Given the description of an element on the screen output the (x, y) to click on. 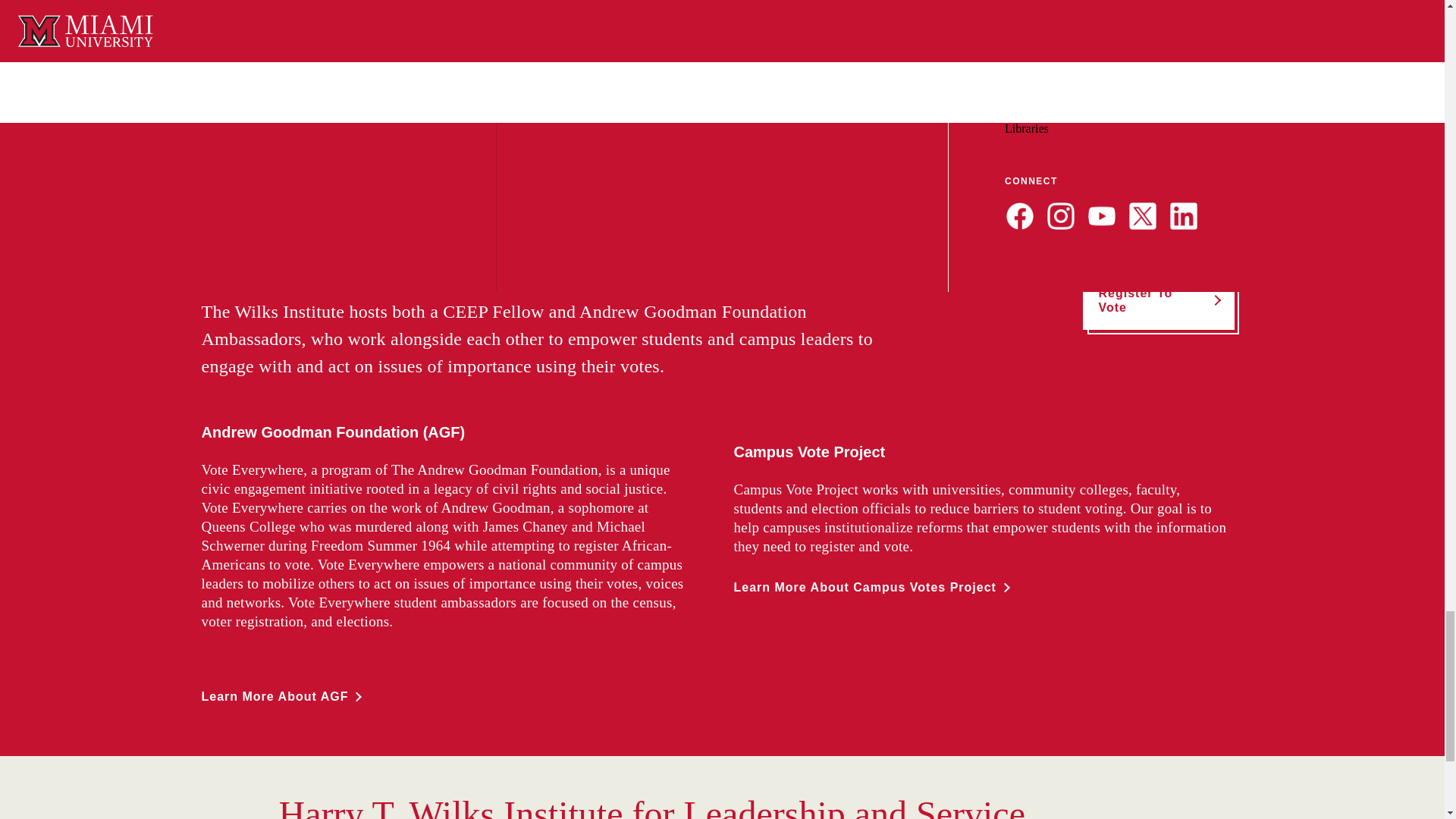
Receive A Copy Of The Student Activism Guide (714, 128)
Follow On Instagram (274, 37)
Learn More About AGF (281, 696)
Learn More About Campus Votes Project (871, 586)
Register To Vote (1163, 304)
